Given the description of an element on the screen output the (x, y) to click on. 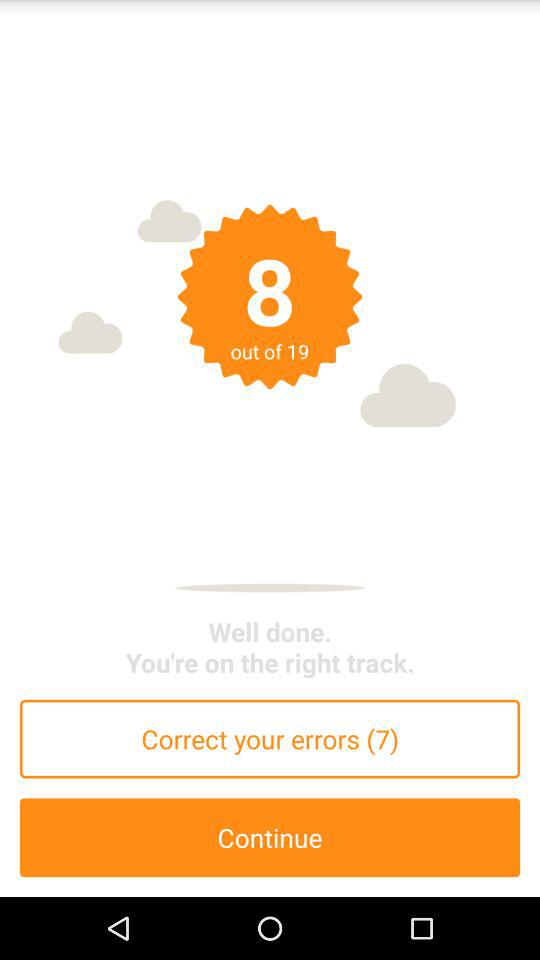
tap the item above continue icon (269, 738)
